Given the description of an element on the screen output the (x, y) to click on. 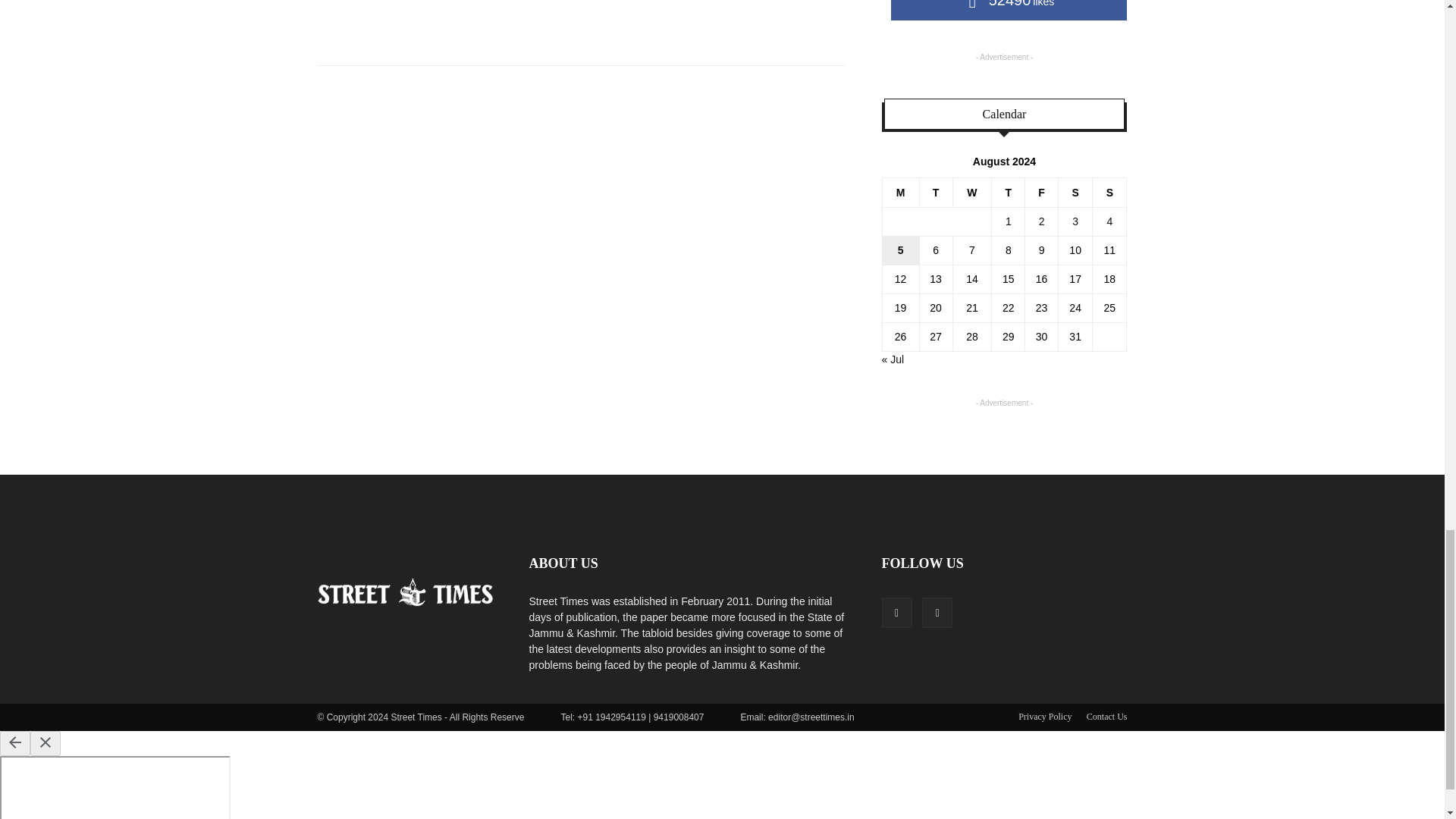
Tuesday (935, 192)
Monday (900, 192)
